Given the description of an element on the screen output the (x, y) to click on. 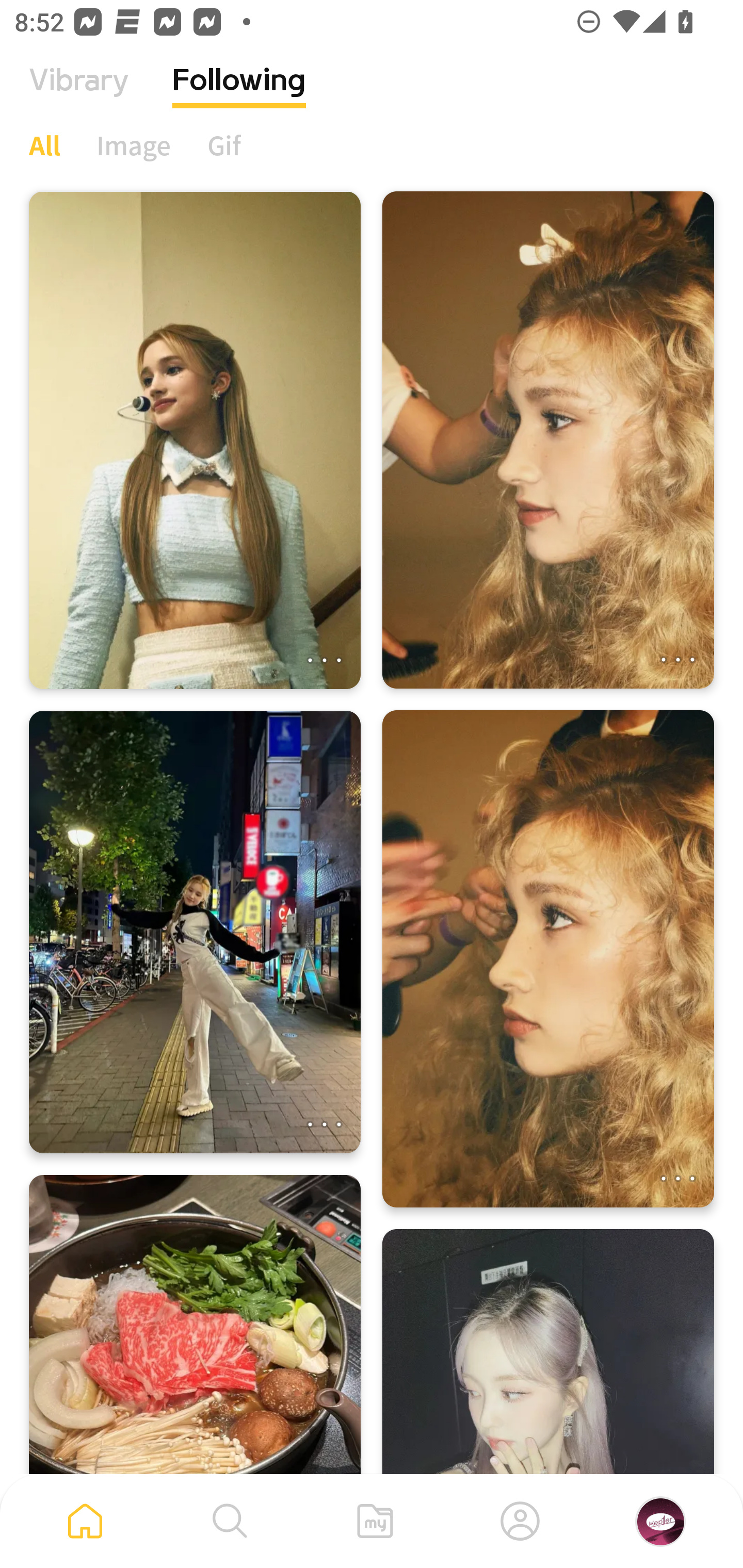
Vibrary (78, 95)
Following (239, 95)
All (44, 145)
Image (133, 145)
Gif (223, 145)
